Given the description of an element on the screen output the (x, y) to click on. 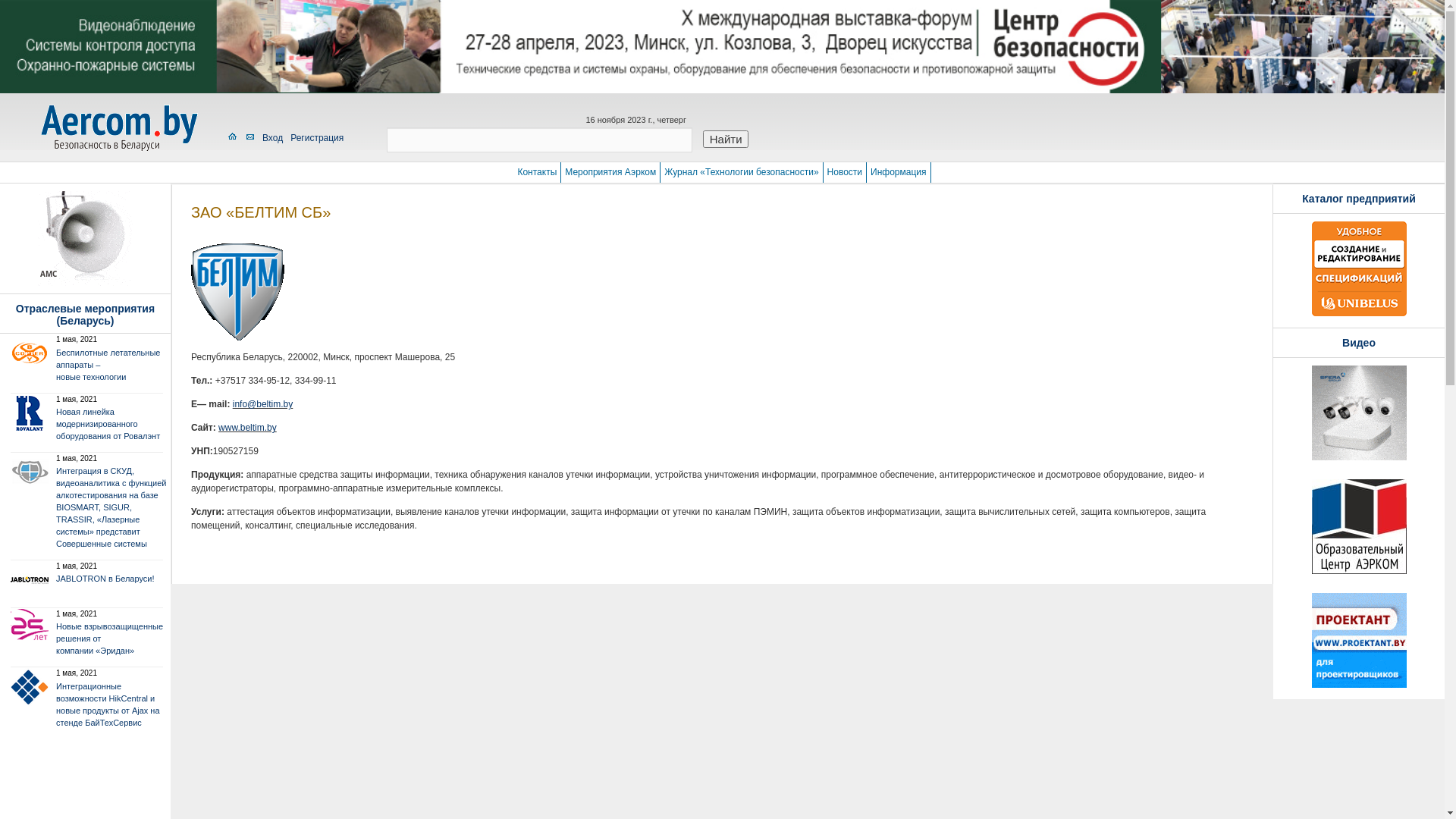
info@beltim.by Element type: text (262, 403)
www.beltim.by Element type: text (247, 427)
